Given the description of an element on the screen output the (x, y) to click on. 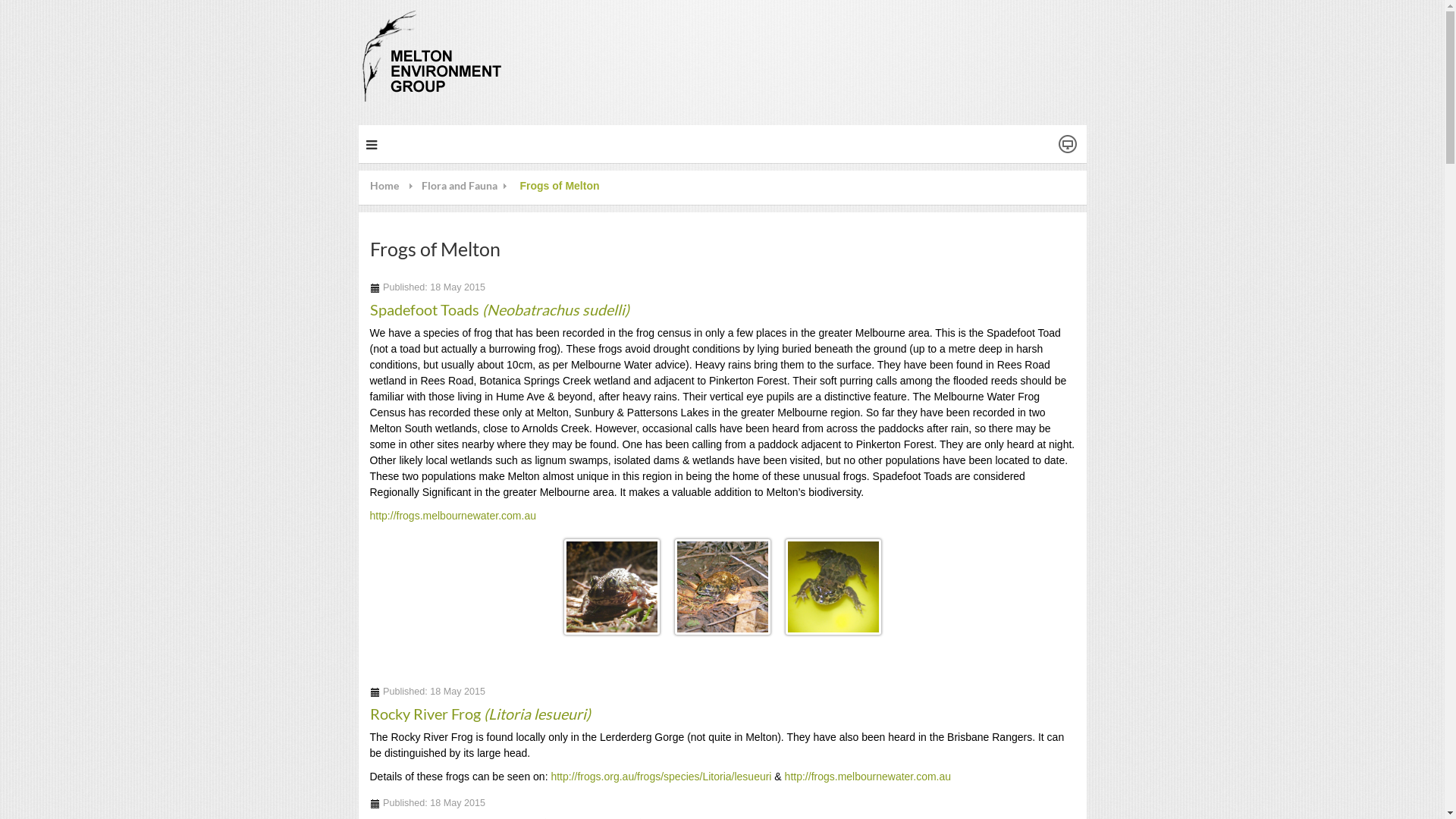
http://frogs.melbournewater.com.au Element type: text (867, 776)
http://frogs.melbournewater.com.au Element type: text (453, 515)
Home Element type: text (395, 185)
http://frogs.org.au/frogs/species/Litoria/lesueuri Element type: text (660, 776)
Flora and Fauna Element type: text (470, 185)
